Given the description of an element on the screen output the (x, y) to click on. 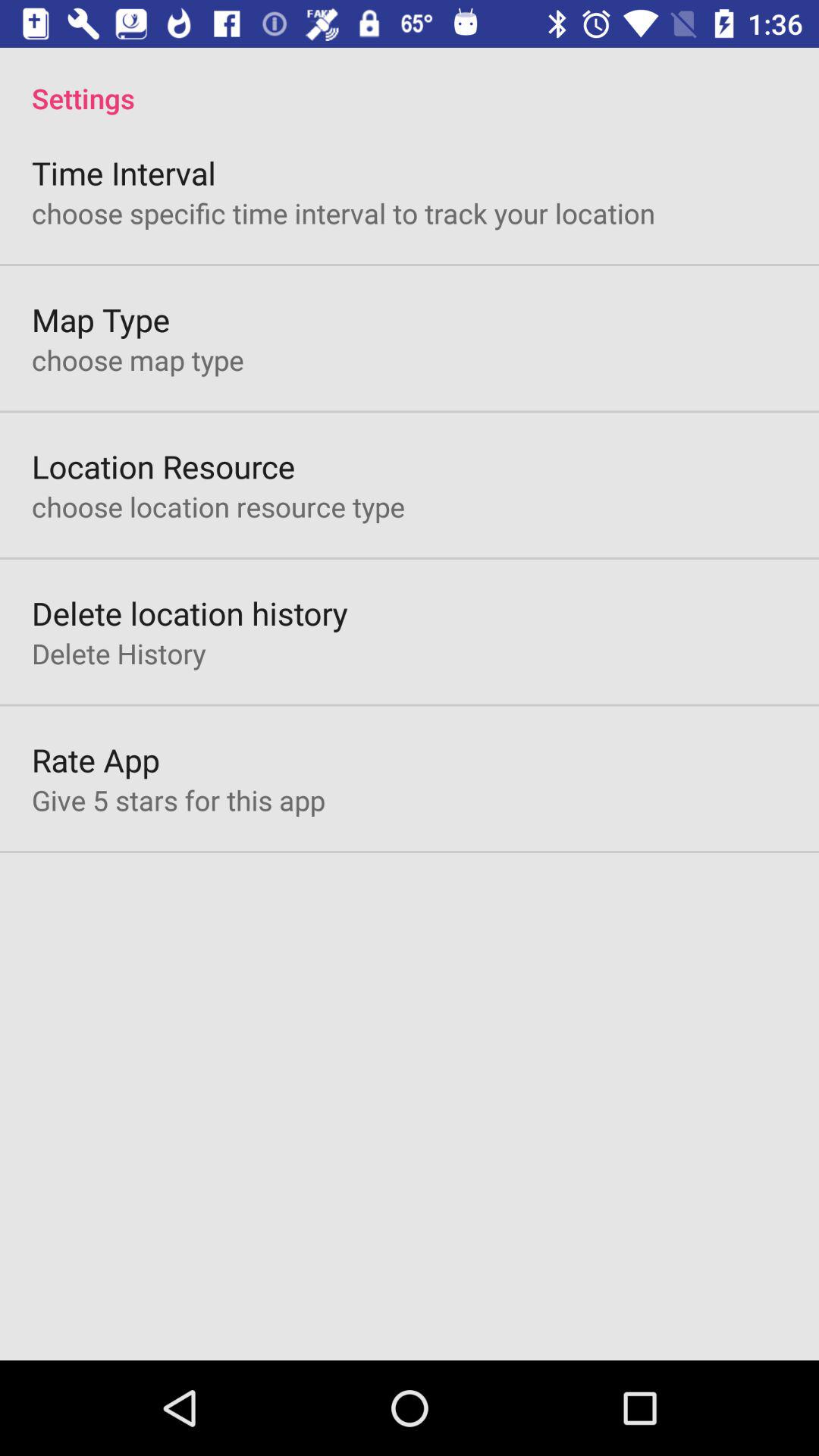
tap choose specific time item (343, 213)
